Given the description of an element on the screen output the (x, y) to click on. 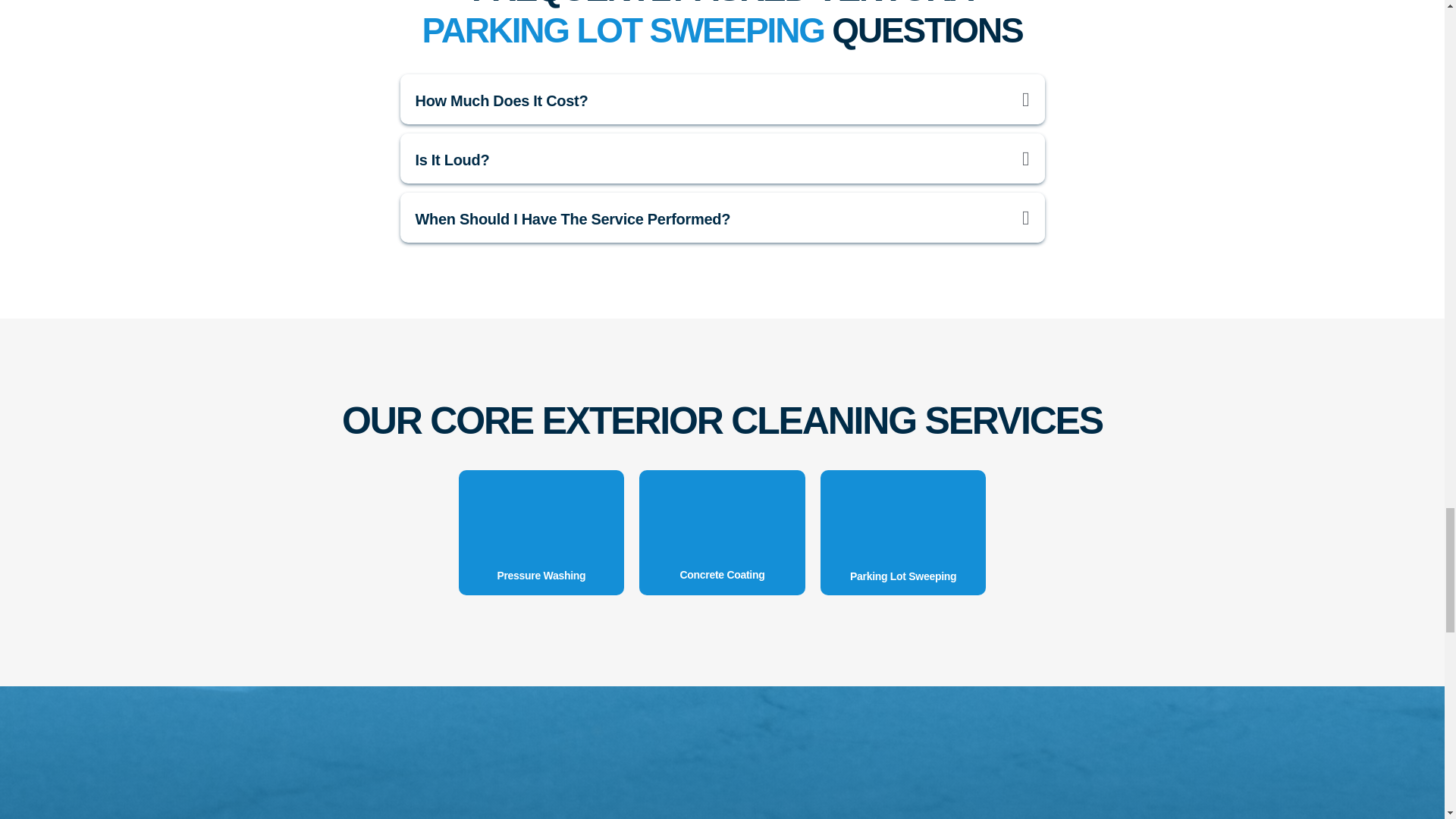
Is It Loud? (451, 159)
How Much Does It Cost? (501, 100)
When Should I Have The Service Performed? (572, 218)
